Given the description of an element on the screen output the (x, y) to click on. 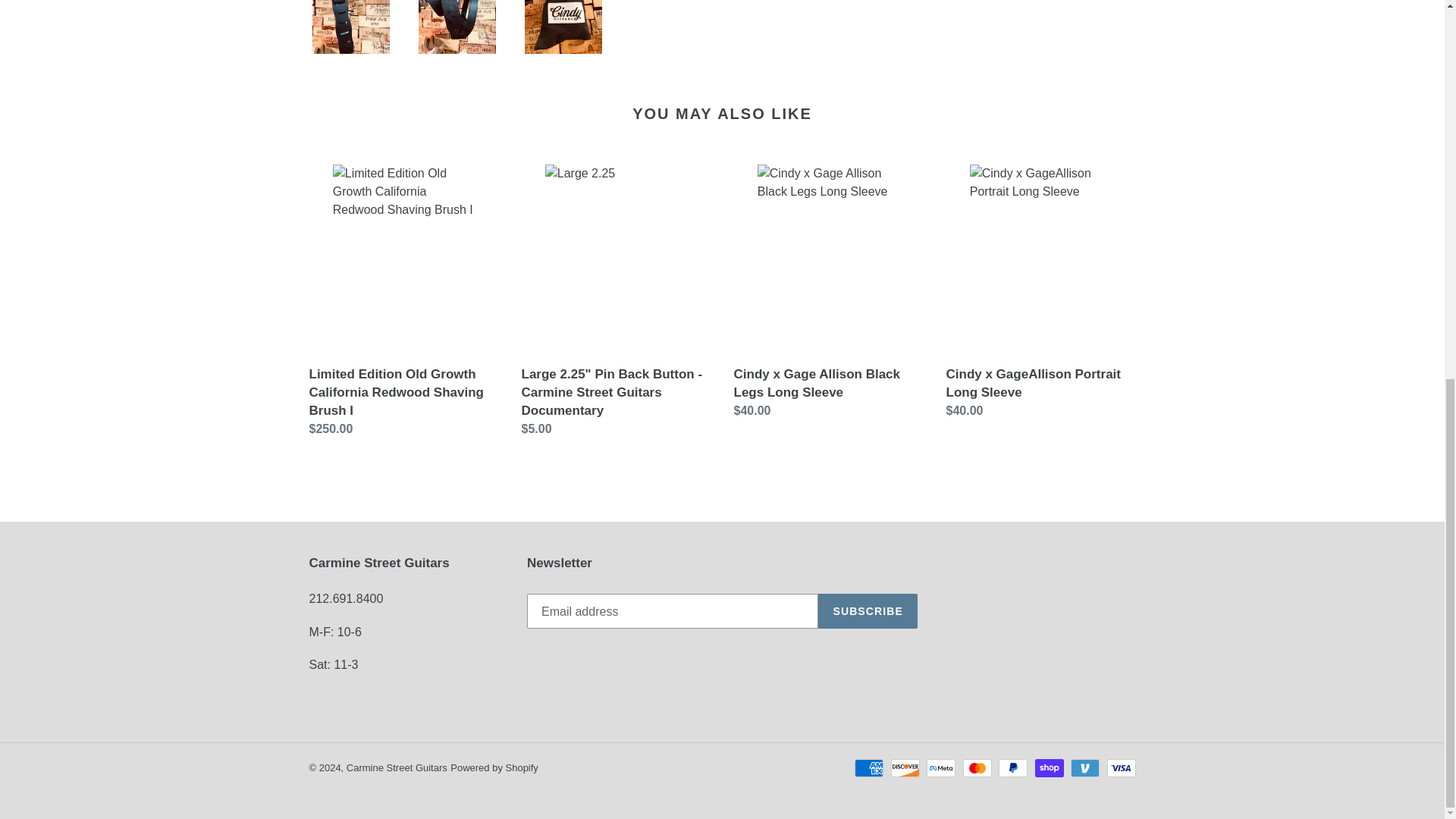
Carmine Street Guitars (396, 767)
SUBSCRIBE (867, 610)
